Given the description of an element on the screen output the (x, y) to click on. 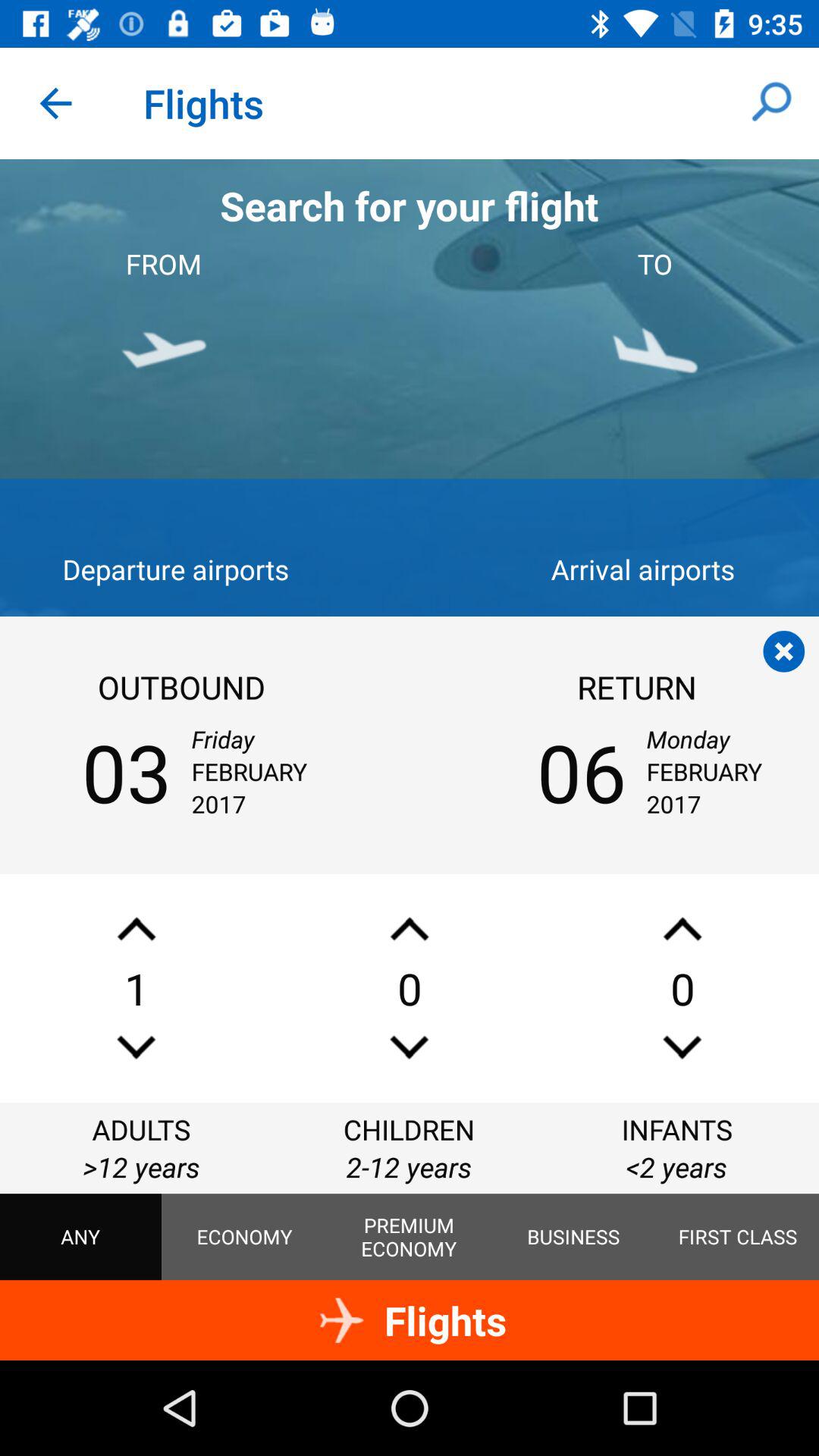
click on the button next to business (737, 1236)
the plane icon shown below from in the image shown at the top (163, 352)
click on the button which is in between premium economy and first class (573, 1236)
